Given the description of an element on the screen output the (x, y) to click on. 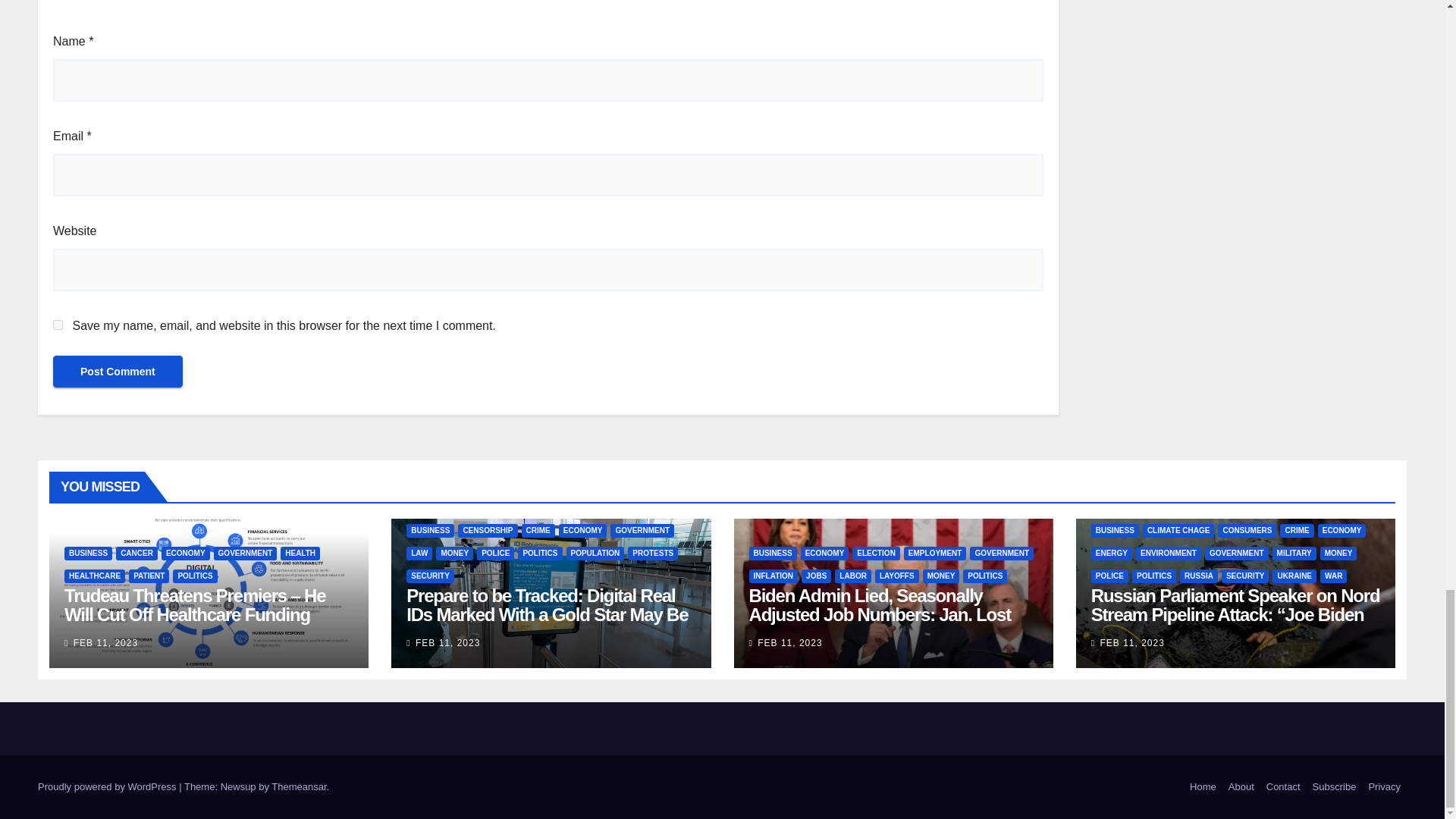
yes (57, 325)
Post Comment (117, 371)
Home (1203, 786)
